Given the description of an element on the screen output the (x, y) to click on. 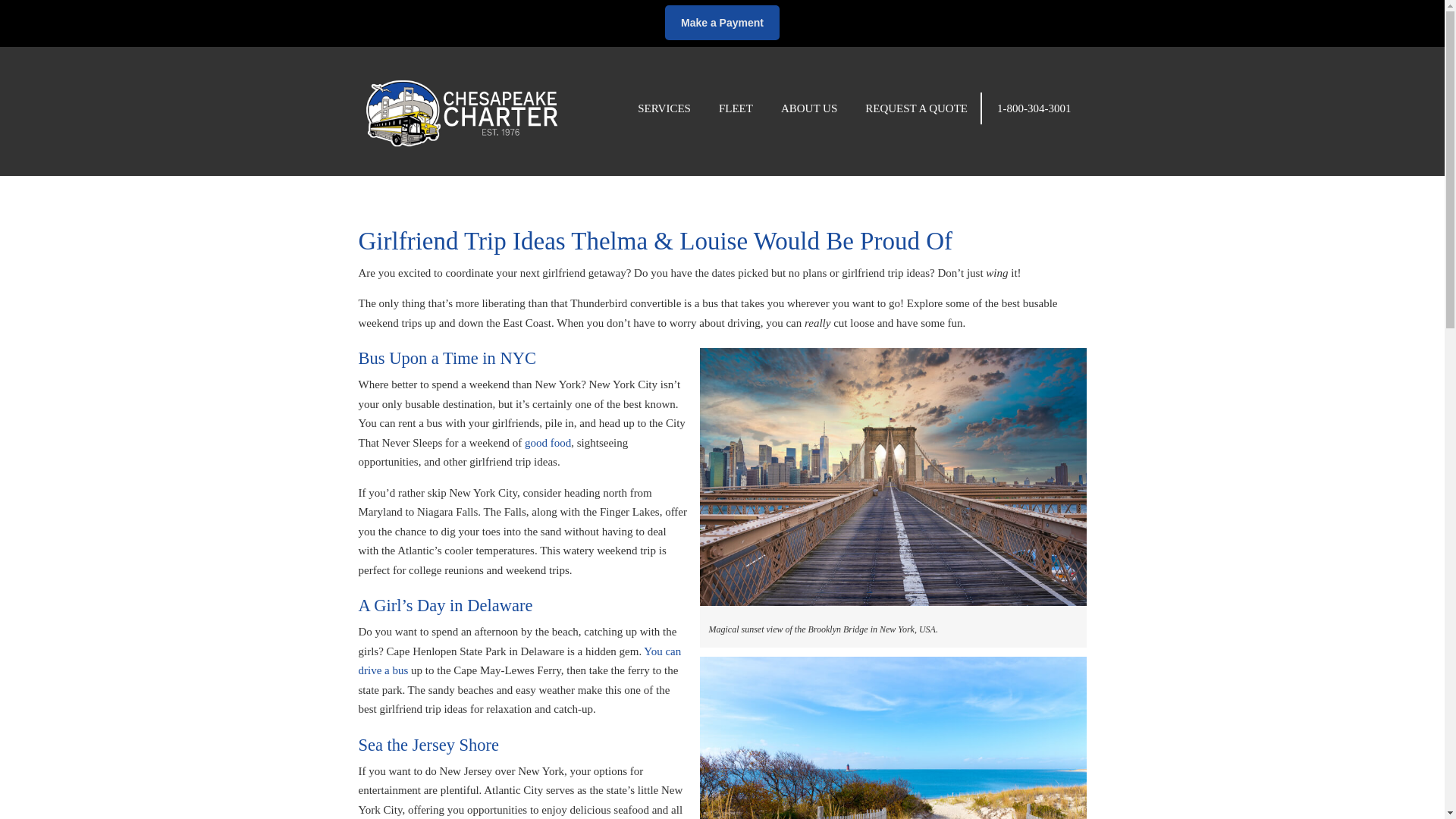
You can drive a bus (519, 661)
FLEET (735, 108)
good food (547, 442)
ABOUT US (808, 108)
Chesapeake Charter (462, 100)
1-800-304-3001 (1033, 108)
Make a Payment (721, 22)
SERVICES (664, 108)
Make a Payment online via our secure payment portal (721, 22)
REQUEST A QUOTE (916, 108)
Chesapeake Charter (462, 100)
